Given the description of an element on the screen output the (x, y) to click on. 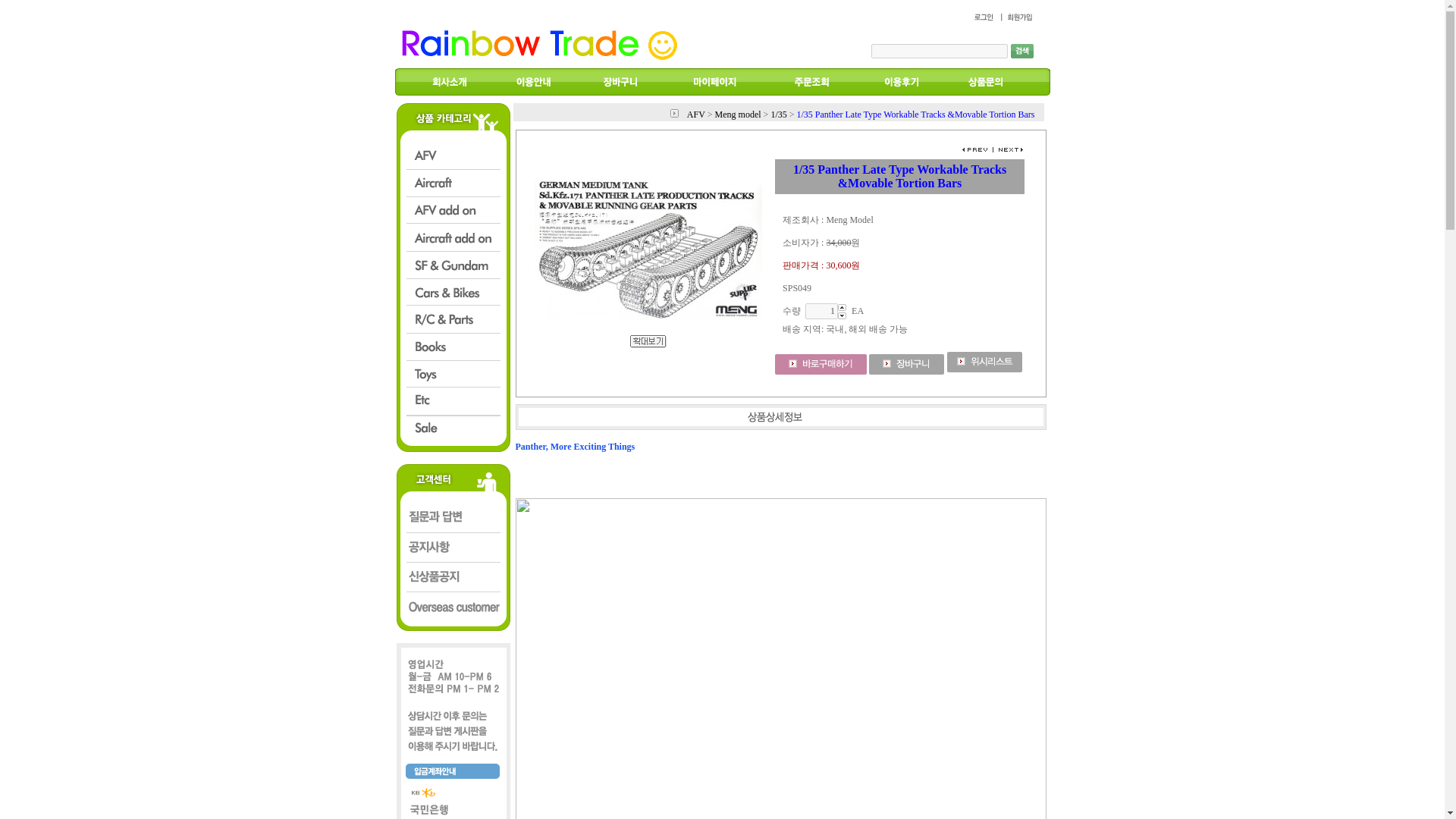
1 (821, 311)
Meng model (737, 113)
AFV (695, 113)
